Given the description of an element on the screen output the (x, y) to click on. 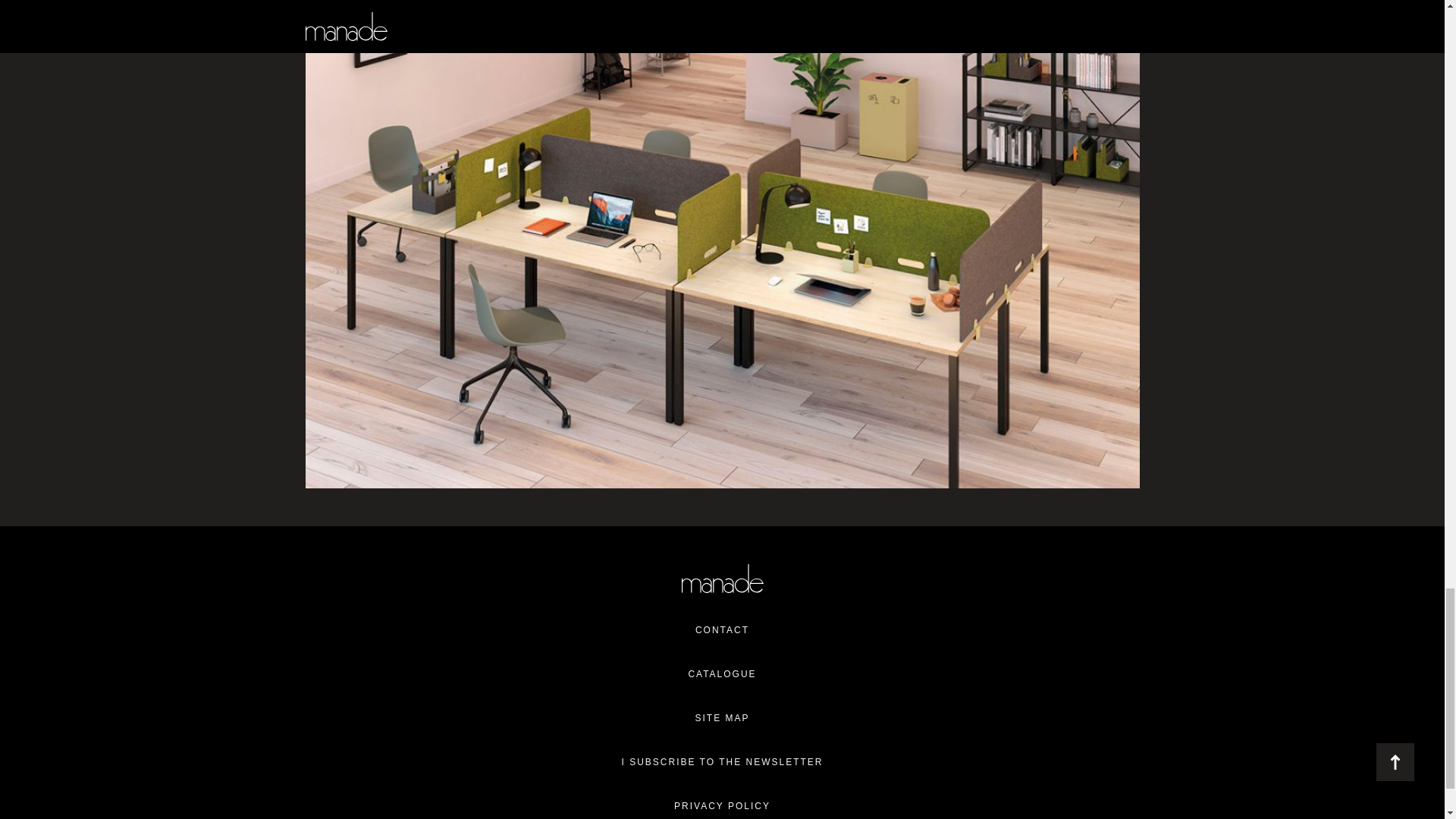
I SUBSCRIBE TO THE NEWSLETTER (721, 762)
CONTACT (721, 630)
SITE MAP (721, 717)
CATALOGUE (721, 673)
Manade (721, 578)
PRIVACY POLICY (721, 806)
